Given the description of an element on the screen output the (x, y) to click on. 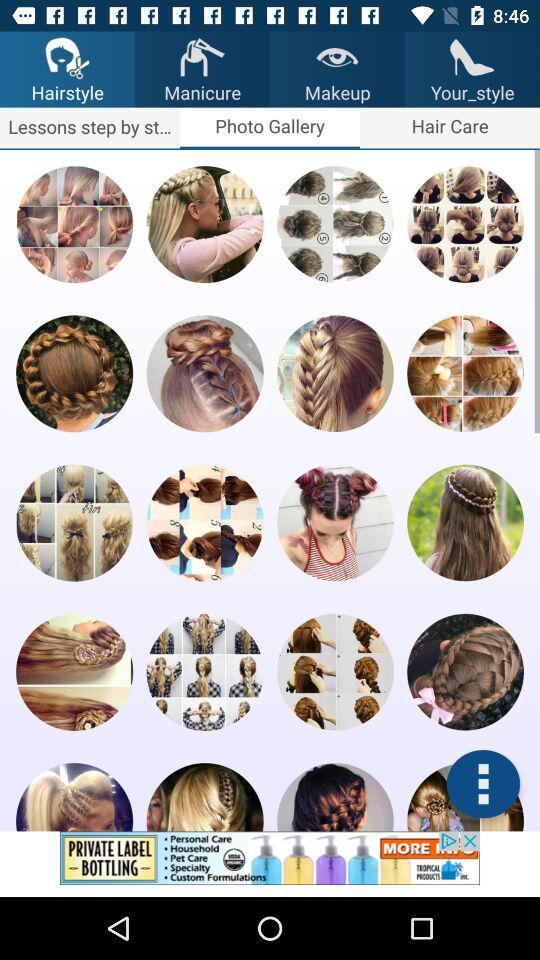
photo editing app (74, 797)
